Given the description of an element on the screen output the (x, y) to click on. 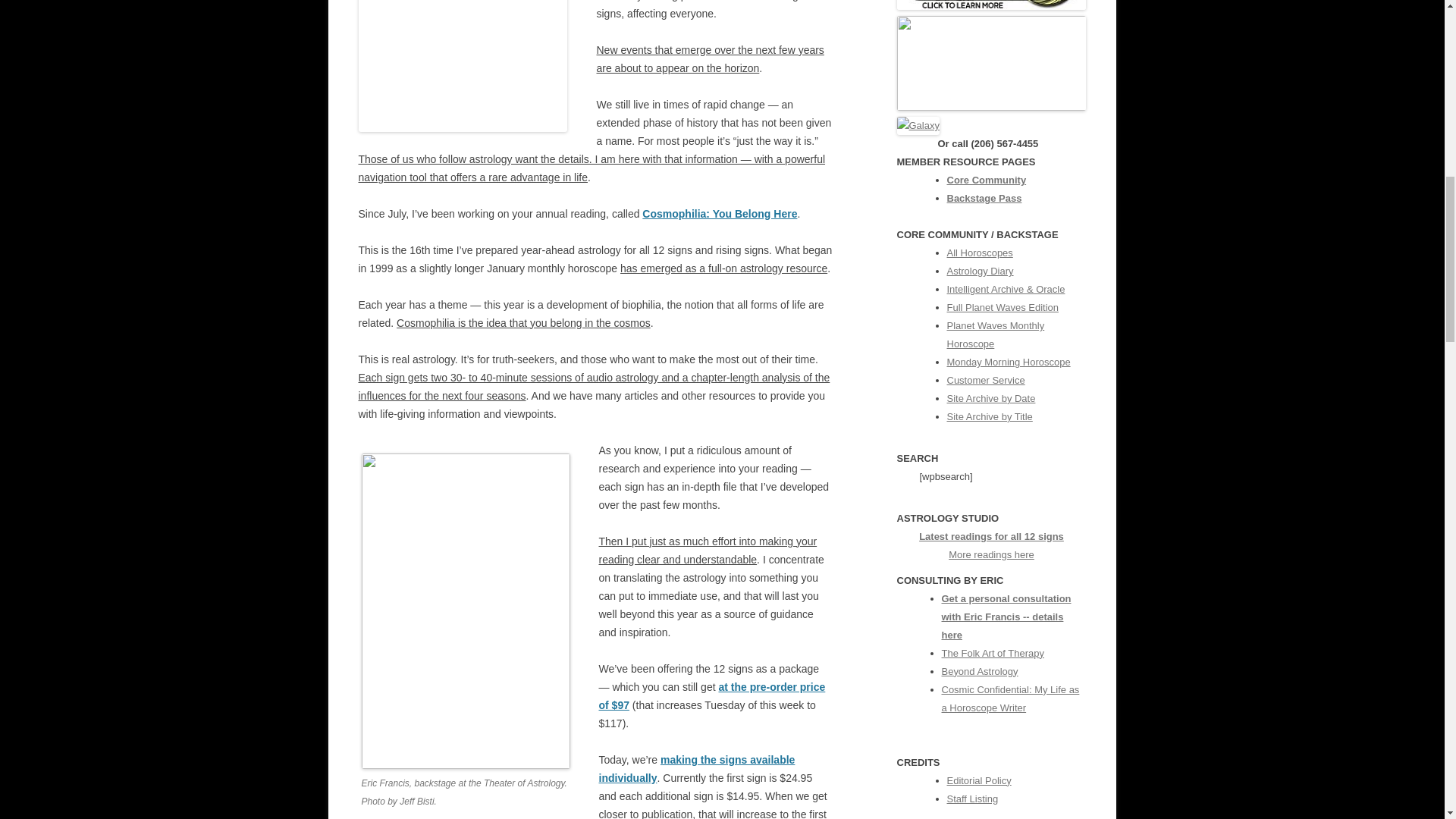
making the signs available individually (696, 768)
Cosmophilia: You Belong Here (719, 214)
